Given the description of an element on the screen output the (x, y) to click on. 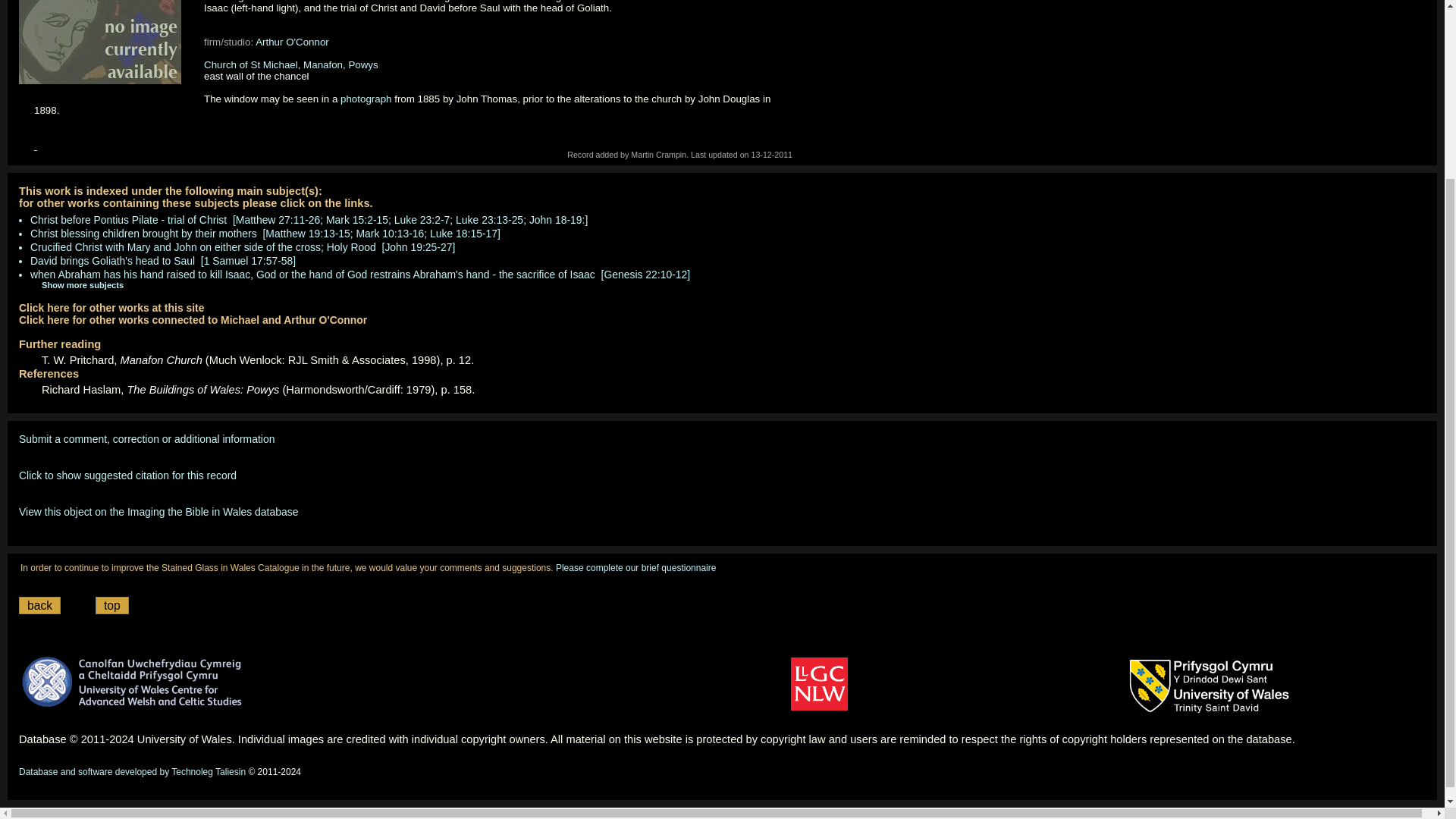
Luke 23:13-25 (488, 219)
Centre for Advanced Welsh and Celtic Studies (133, 681)
Mark 10:13-16 (390, 233)
National Library of Wales - project partner (818, 683)
Luke 23:2-7 (421, 219)
David brings Goliath's head to Saul (112, 260)
John 18-19: (557, 219)
Luke 18:15-17 (463, 233)
Christ blessing children brought by their mothers (143, 233)
photograph (365, 98)
Christ before Pontius Pilate - trial of Christ (128, 219)
John 19:25-27 (417, 246)
image not available (103, 45)
